Given the description of an element on the screen output the (x, y) to click on. 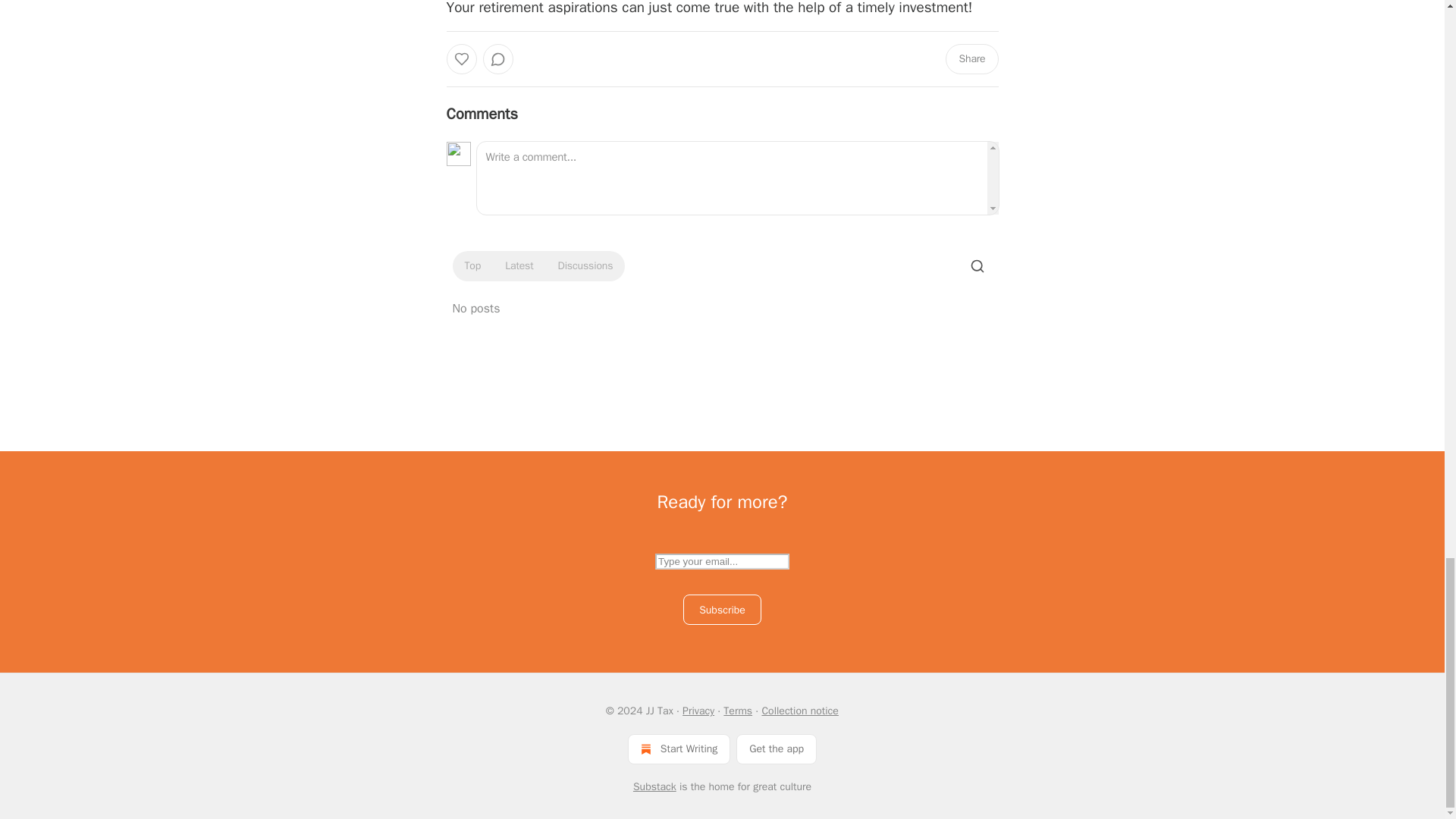
Latest (518, 265)
Collection notice (799, 710)
Discussions (585, 265)
Terms (737, 710)
Share (970, 59)
Top (471, 265)
Privacy (698, 710)
Subscribe (721, 609)
